Given the description of an element on the screen output the (x, y) to click on. 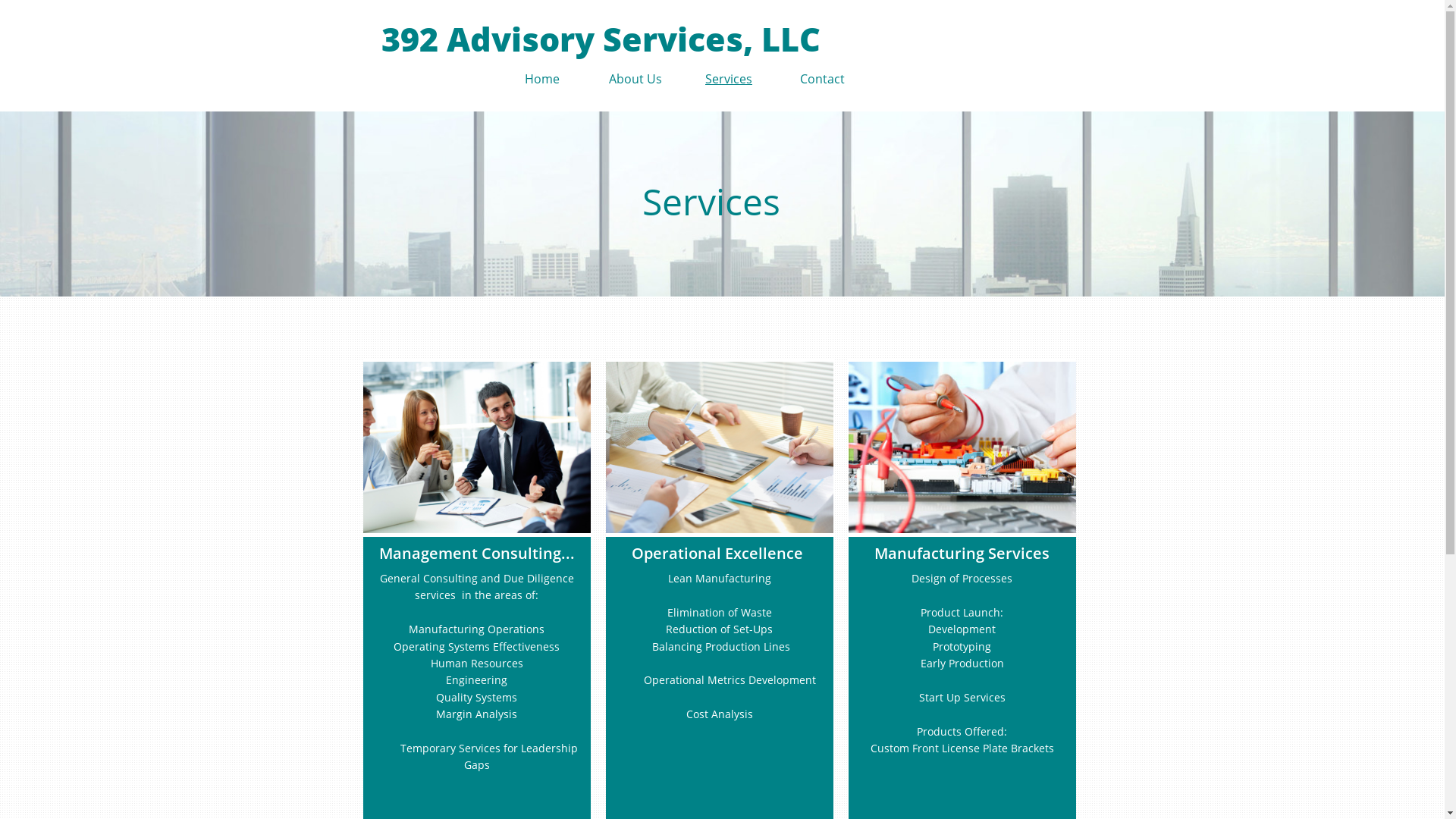
Services Element type: text (729, 79)
Contact Element type: text (821, 79)
392 Advisory Services, LLC  Element type: text (602, 36)
About Us Element type: text (635, 79)
Home Element type: text (542, 79)
